Given the description of an element on the screen output the (x, y) to click on. 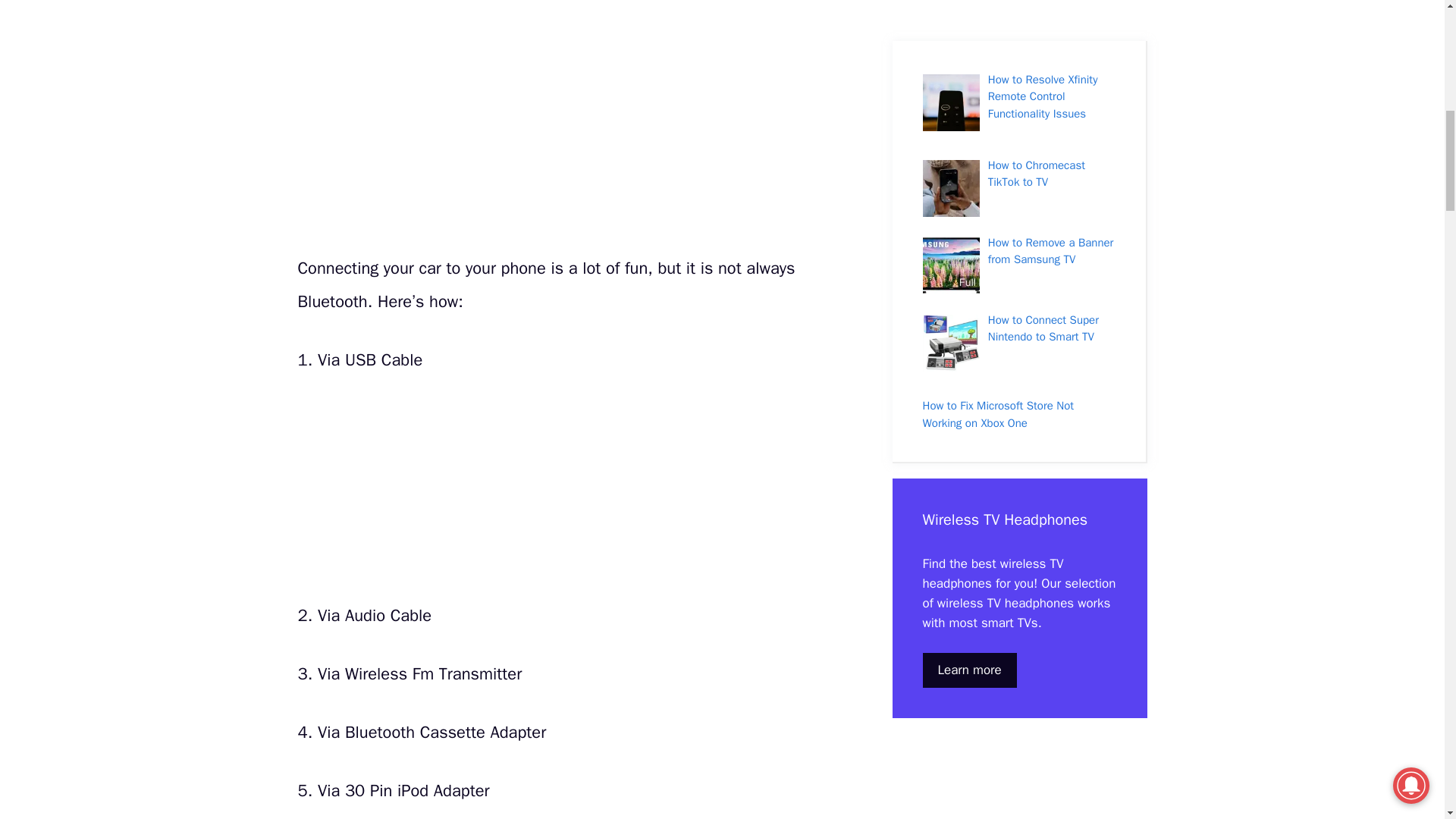
Learn more (968, 669)
How to Resolve Xfinity Remote Control Functionality Issues (1042, 96)
How to Connect Super Nintendo to Smart TV (1043, 327)
How to Fix Microsoft Store Not Working on Xbox One (997, 413)
How to Chromecast TikTok to TV (1036, 173)
How to Remove a Banner from Samsung TV (1050, 250)
